Given the description of an element on the screen output the (x, y) to click on. 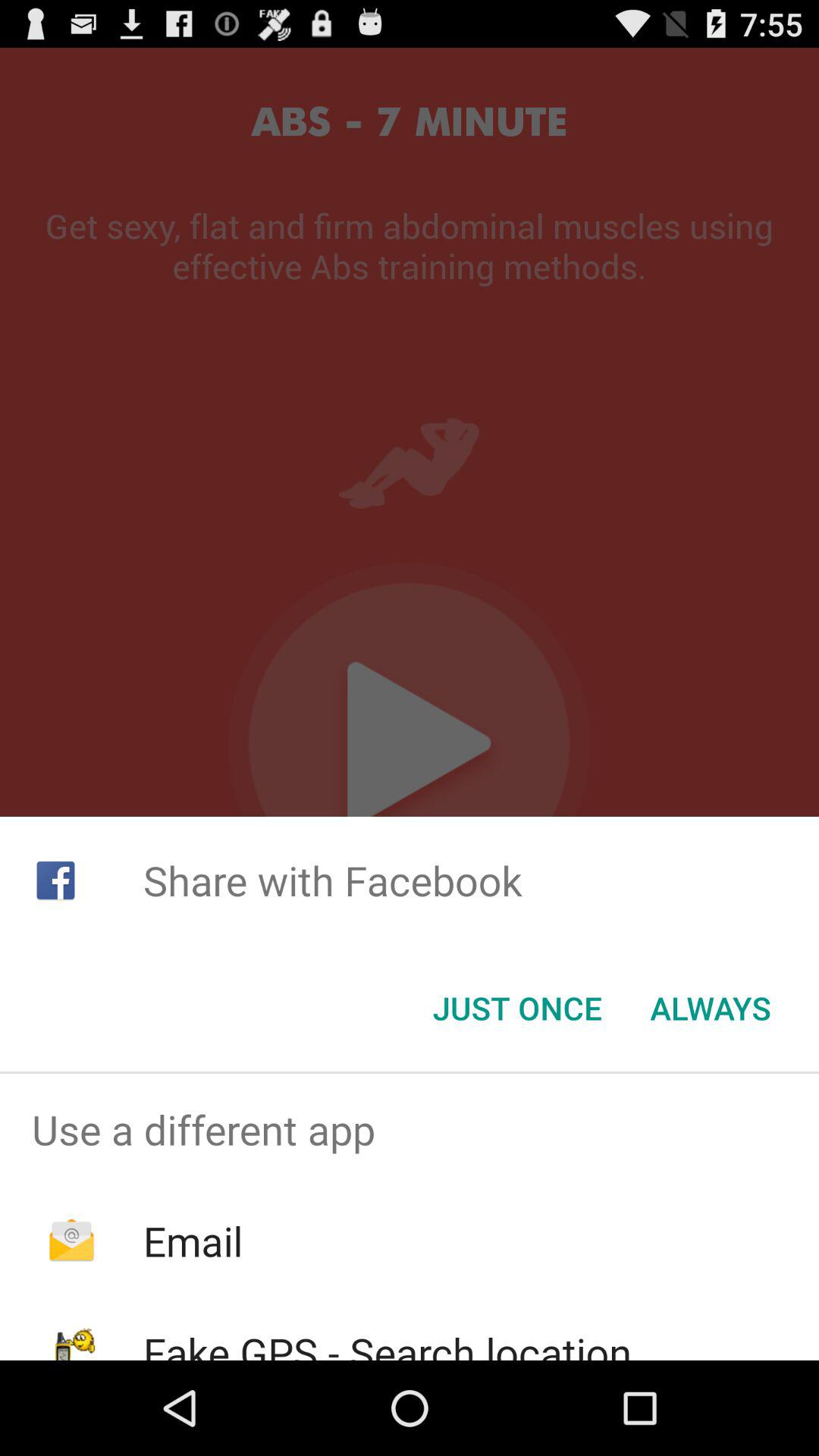
jump to the fake gps search (387, 1342)
